Given the description of an element on the screen output the (x, y) to click on. 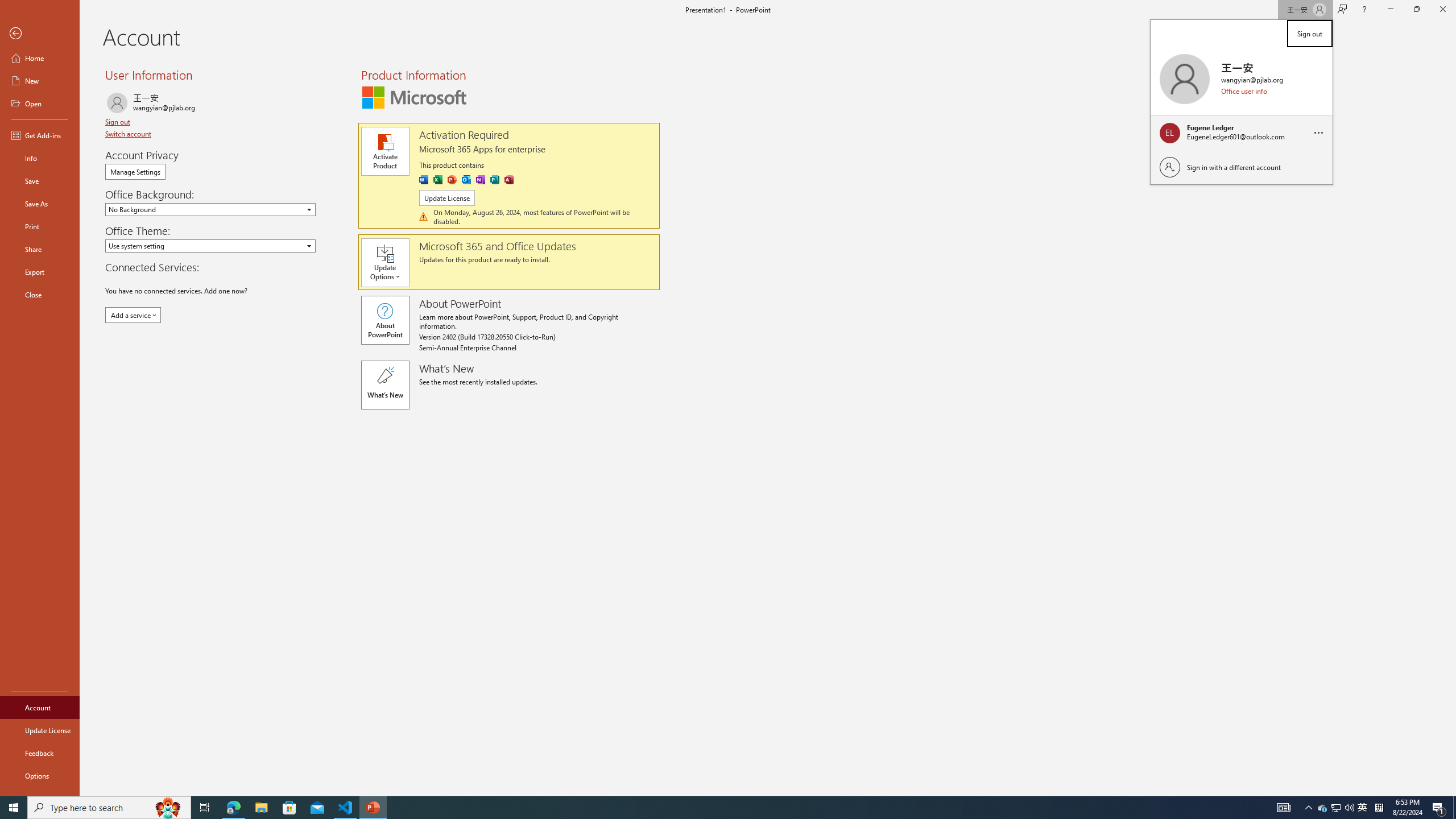
Update License (446, 197)
